Given the description of an element on the screen output the (x, y) to click on. 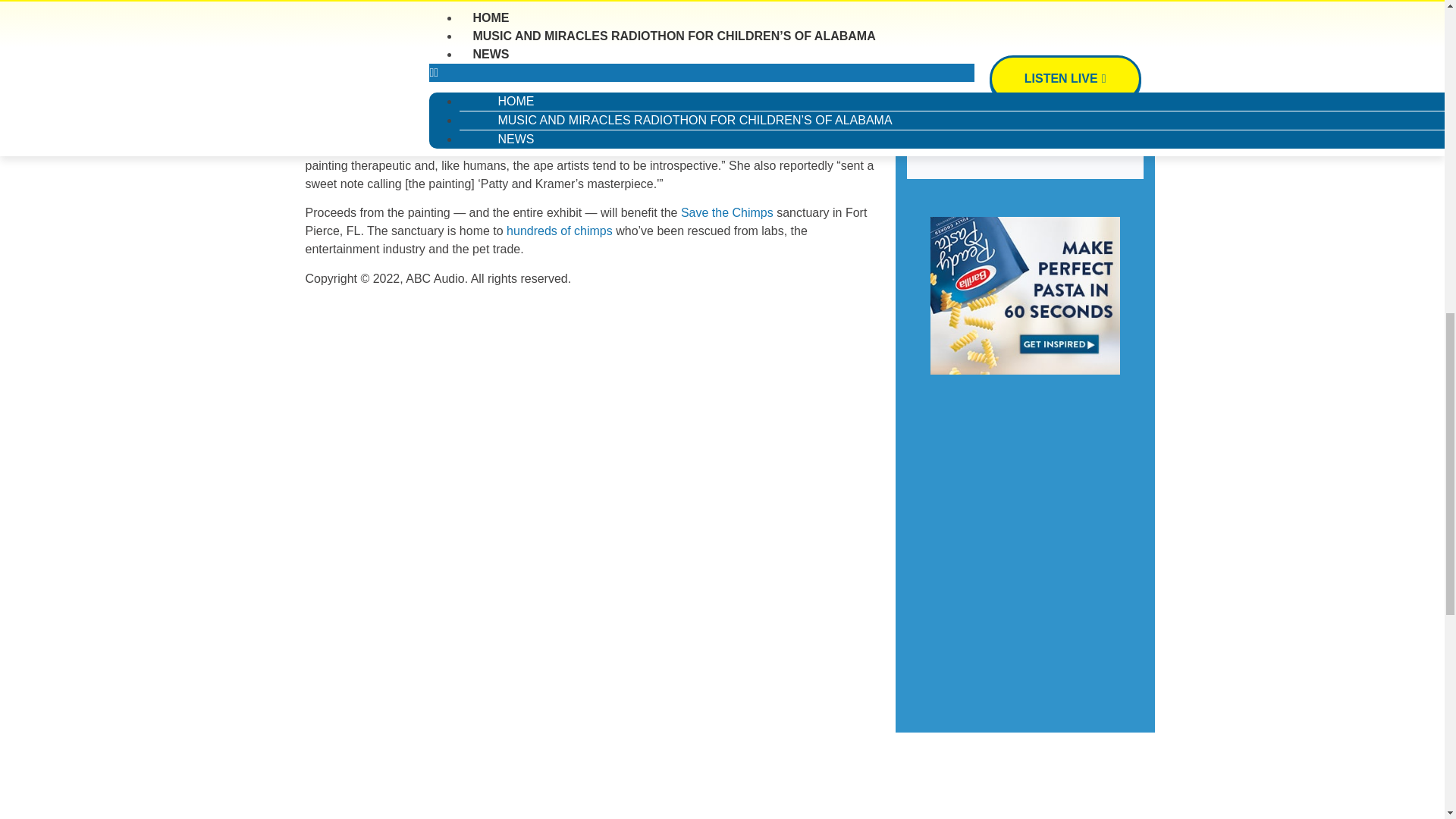
exhibit of art by chimpanzees (780, 74)
Page Six (328, 78)
hundreds of chimps (559, 232)
Save the Chimps (727, 216)
